Given the description of an element on the screen output the (x, y) to click on. 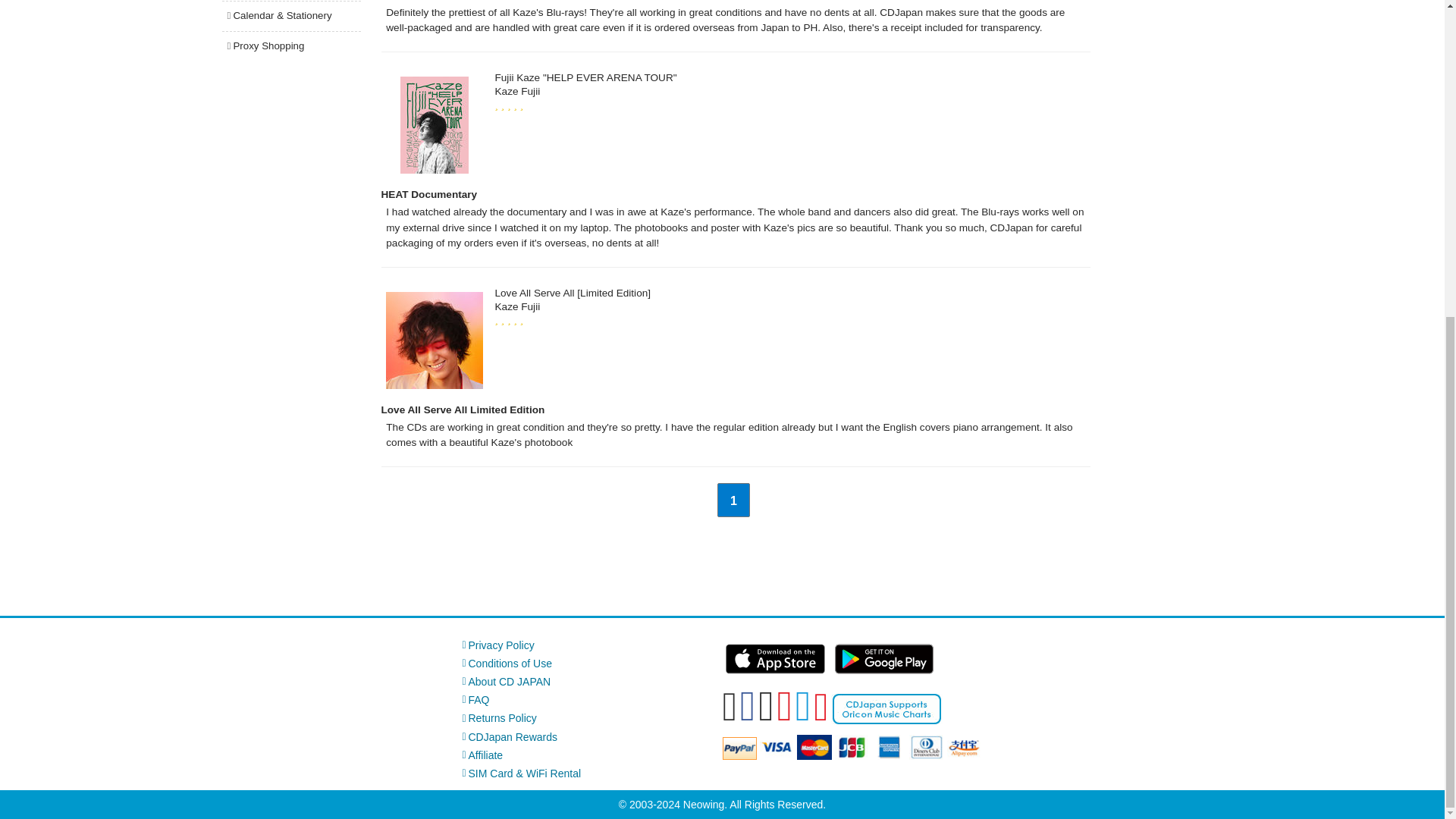
1 (733, 499)
